Given the description of an element on the screen output the (x, y) to click on. 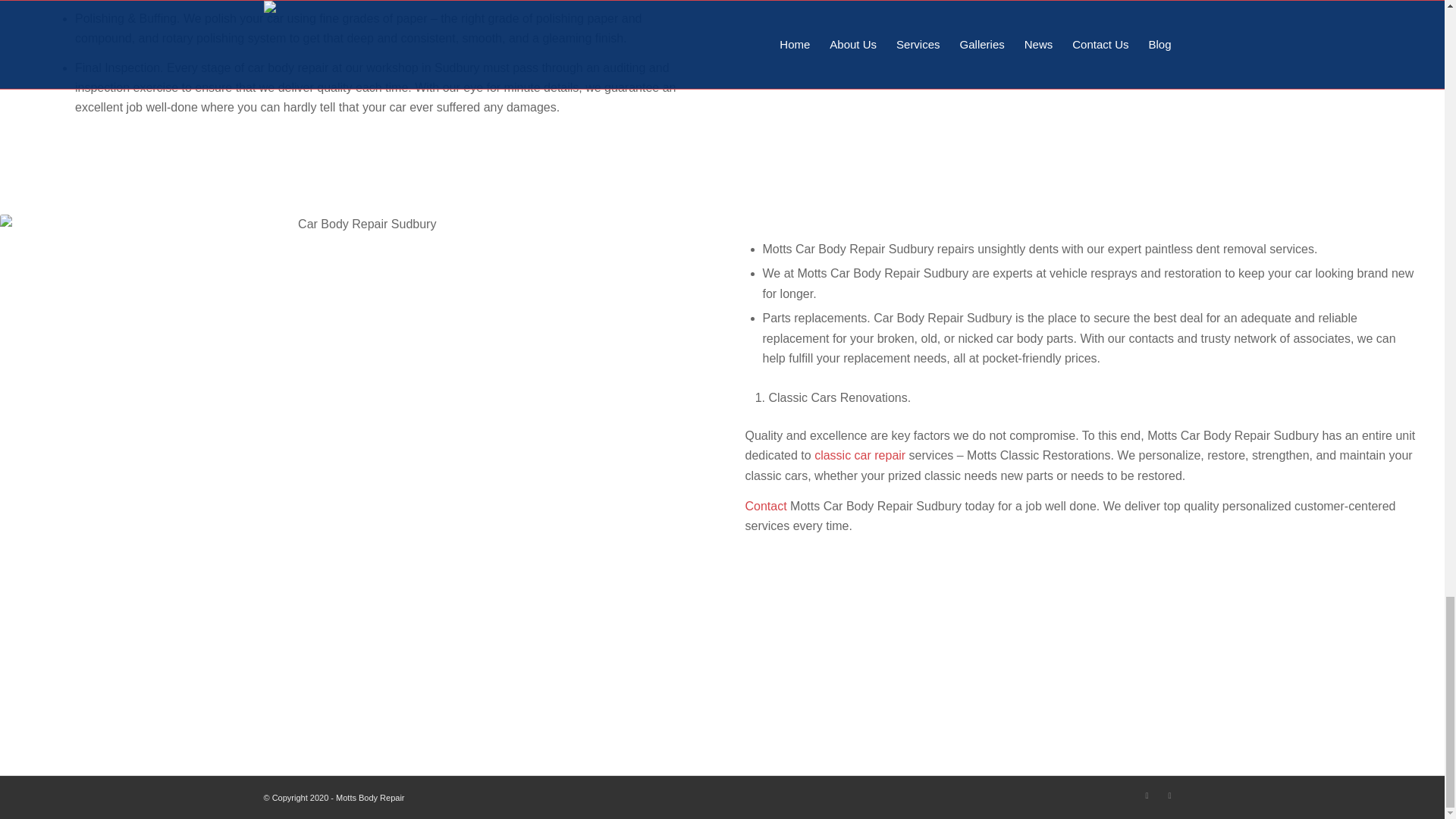
Facebook (1146, 794)
Instagram (1169, 794)
